Given the description of an element on the screen output the (x, y) to click on. 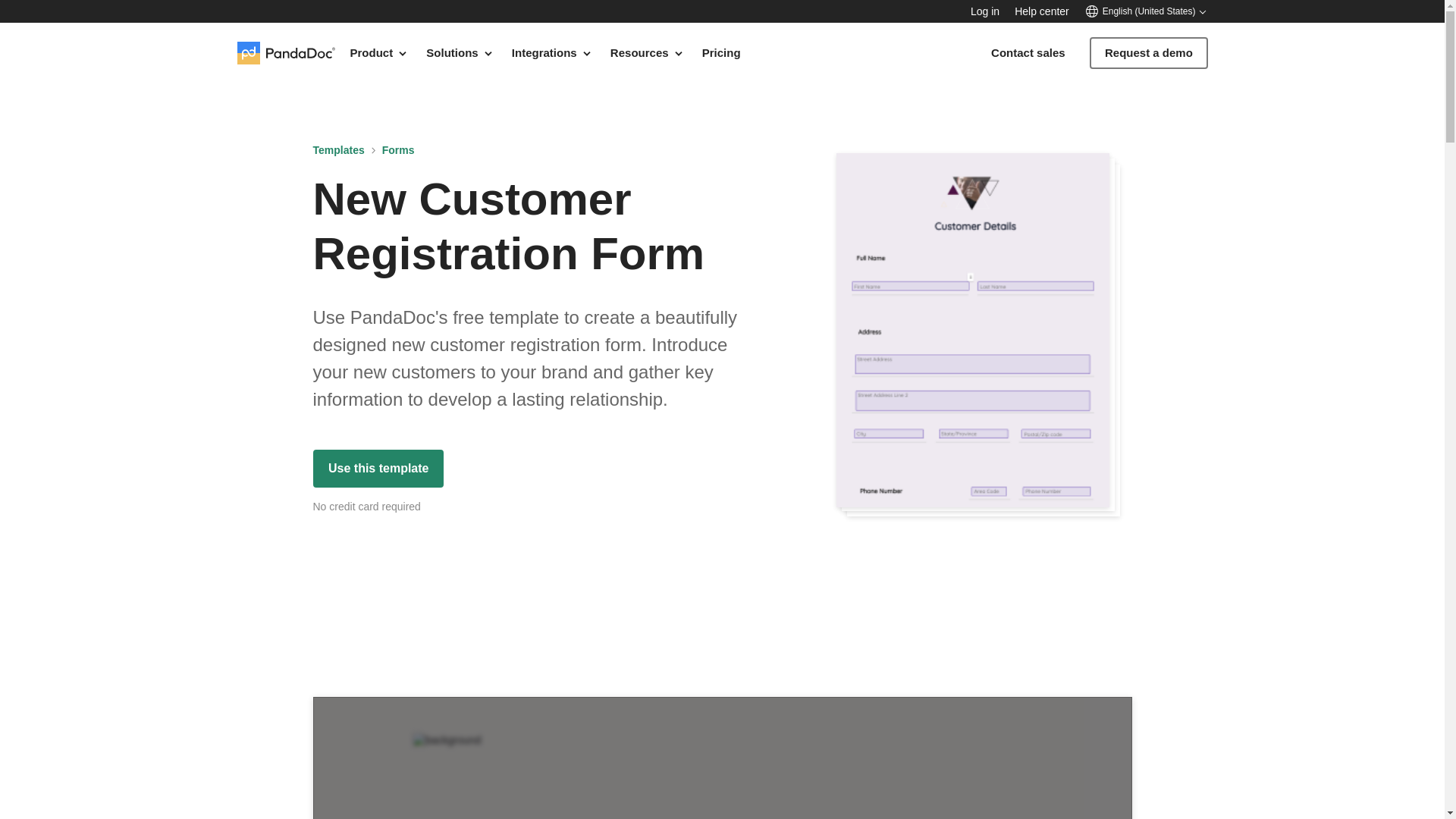
Help center (1041, 10)
Log in (984, 10)
Solutions (459, 52)
Product (379, 52)
